Given the description of an element on the screen output the (x, y) to click on. 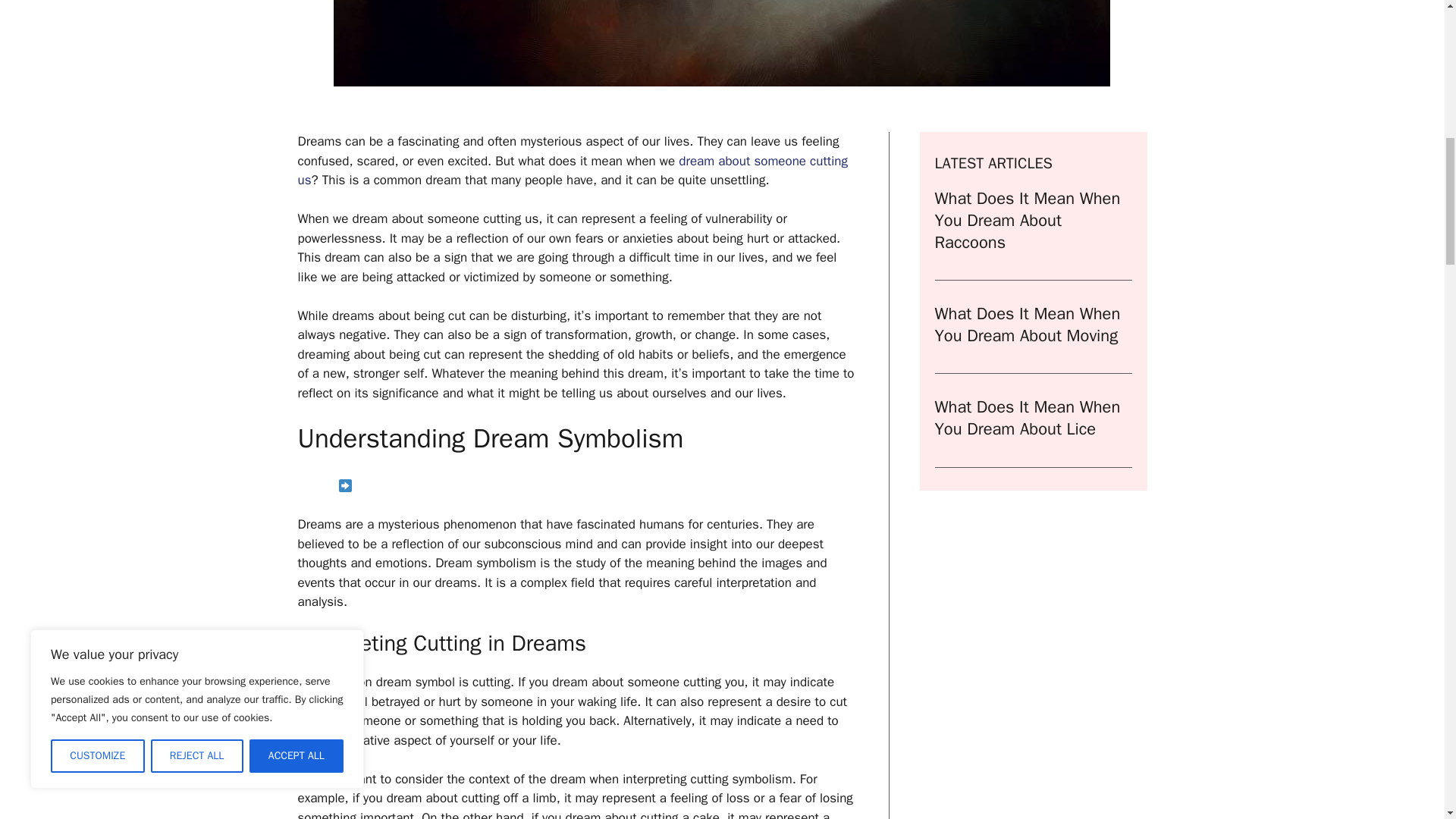
What Does It Mean When You Dream About Raccoons (1026, 220)
dream about someone cutting us (572, 171)
Read What Do Serial Killer Dreams Mean (577, 486)
Scroll back to top (1406, 720)
What Does It Mean When You Dream About Moving (1026, 324)
What Does It Mean When You Dream About Lice (1026, 417)
